Given the description of an element on the screen output the (x, y) to click on. 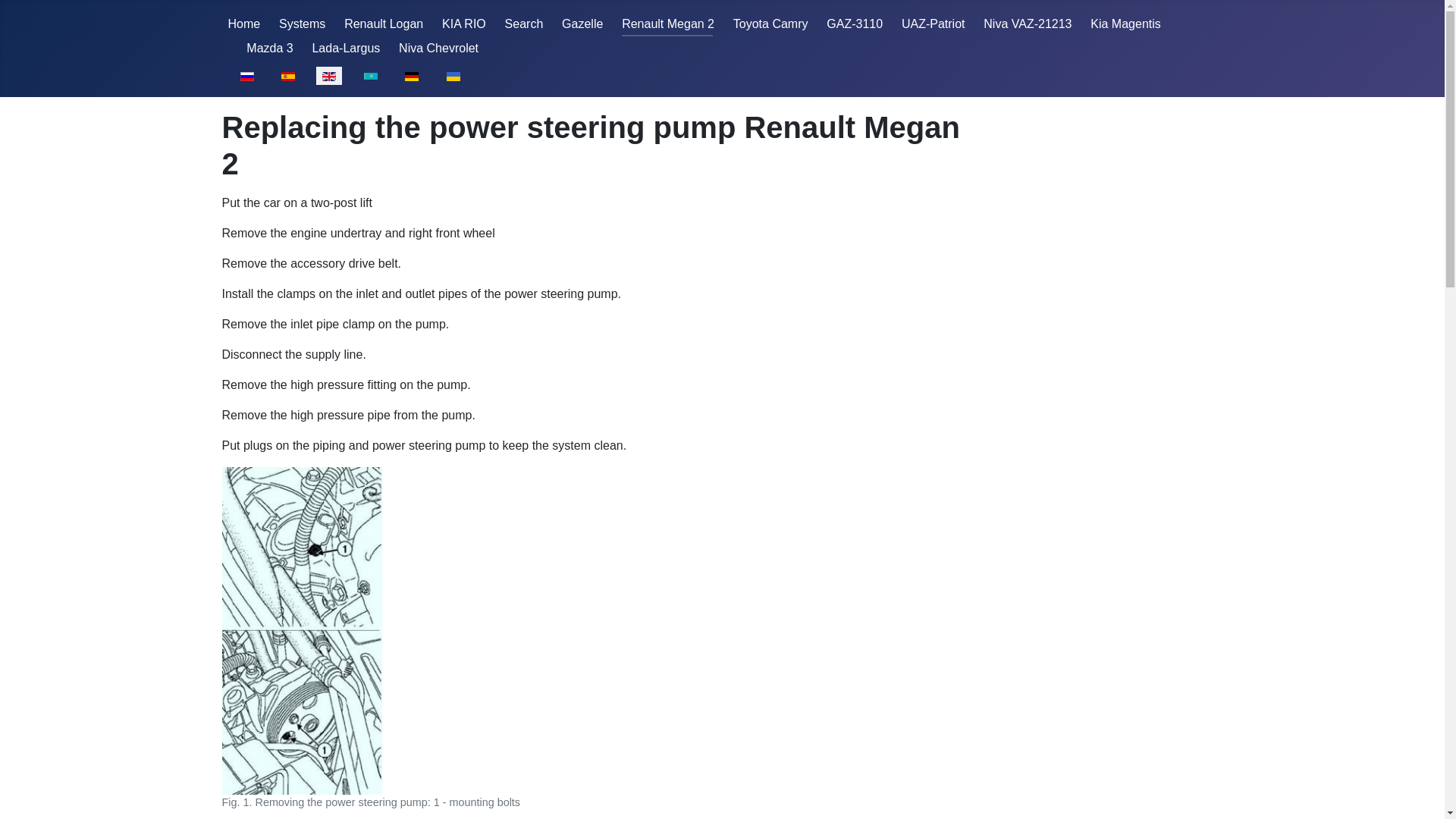
Niva VAZ-21213 (1027, 23)
KIA RIO (464, 23)
Gazelle (582, 23)
Kia Magentis (1125, 23)
Mazda 3 (269, 47)
GAZ-3110 (854, 23)
Home (243, 23)
Renault Megan 2 (667, 23)
Renault Logan (383, 23)
Niva Chevrolet (438, 47)
